Given the description of an element on the screen output the (x, y) to click on. 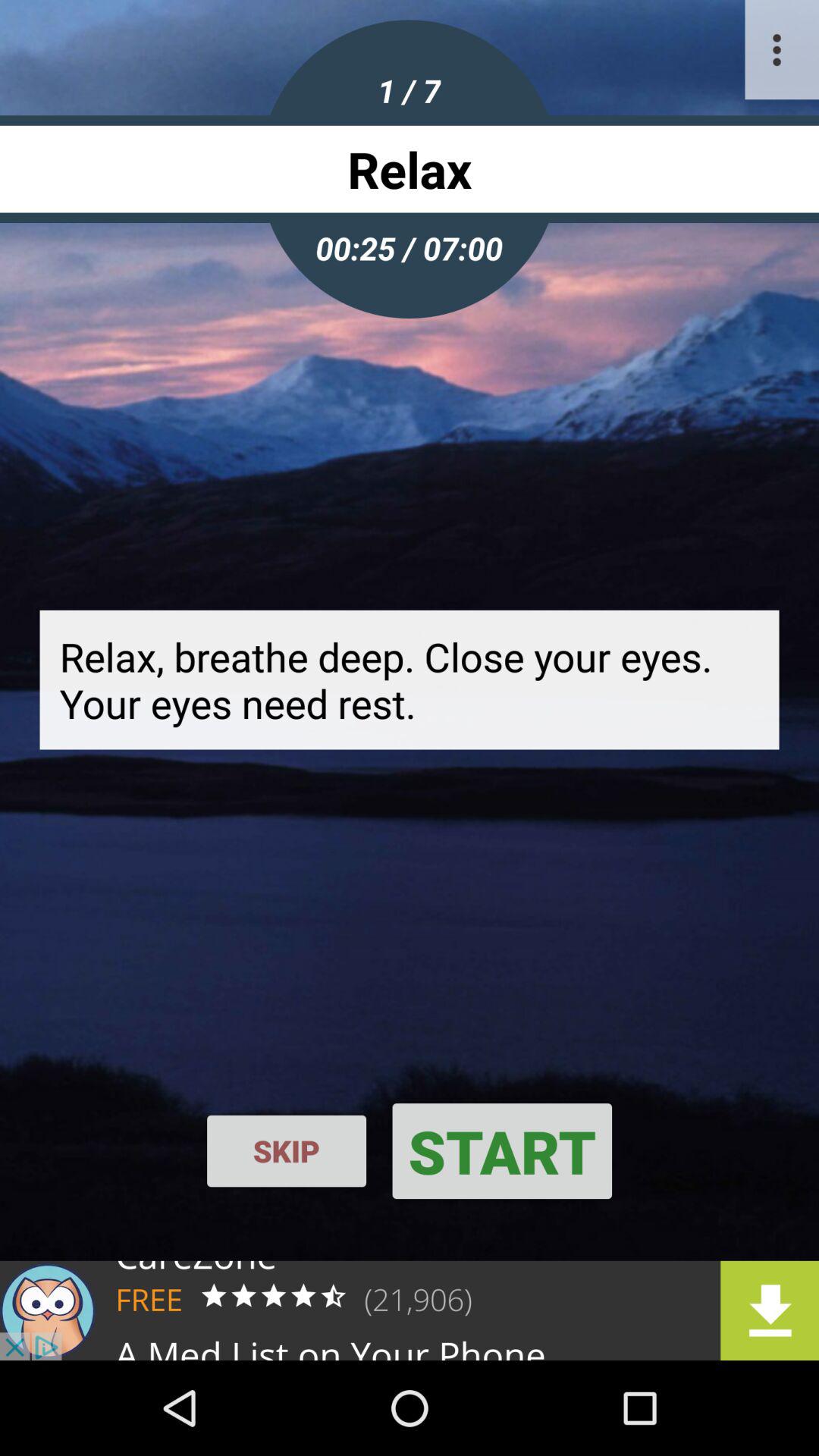
open advertisement (409, 1310)
